Given the description of an element on the screen output the (x, y) to click on. 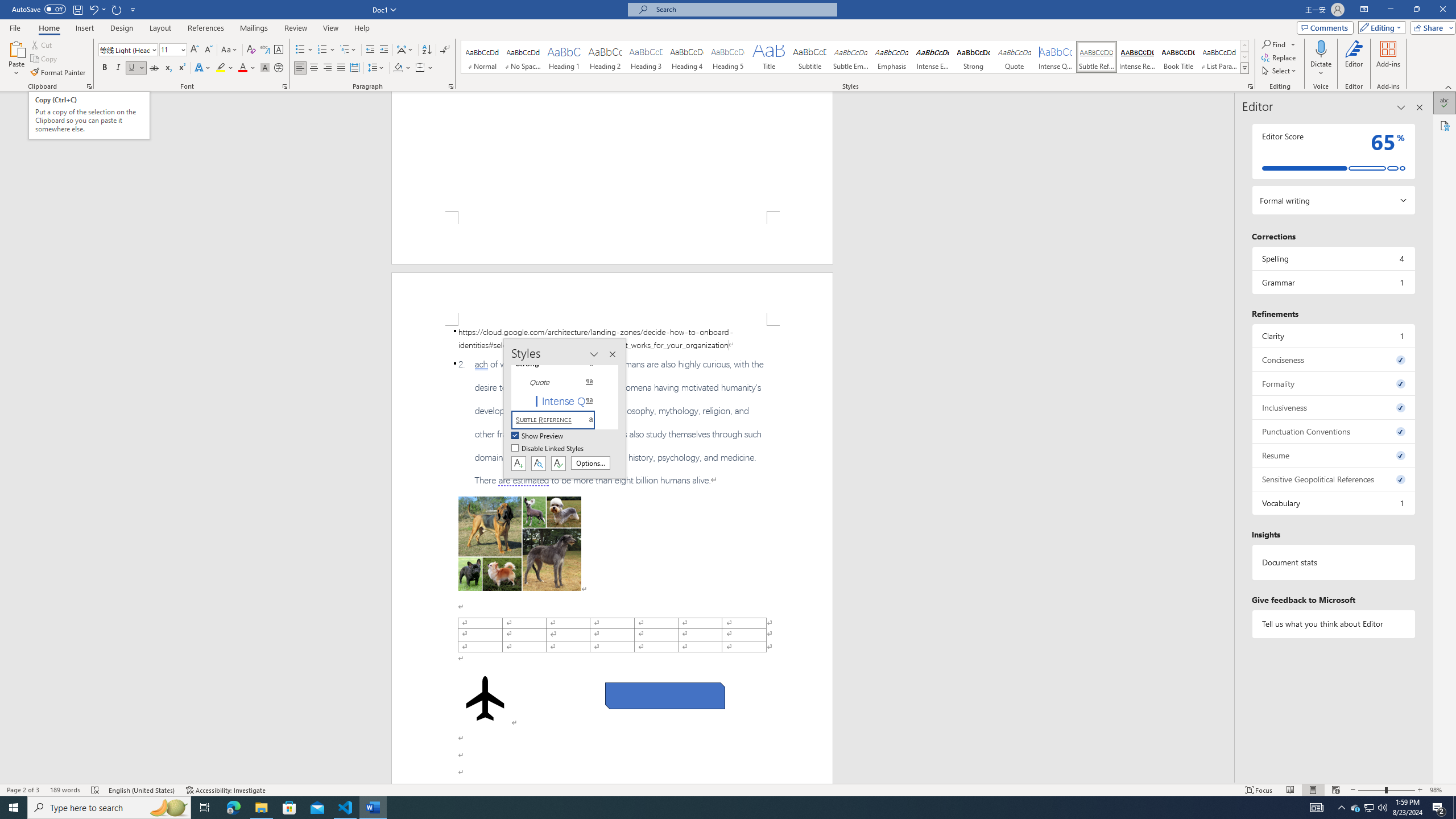
Strong (973, 56)
Heading 4 (686, 56)
Options... (590, 463)
Undo Style (92, 9)
Rectangle: Diagonal Corners Snipped 2 (665, 695)
